Given the description of an element on the screen output the (x, y) to click on. 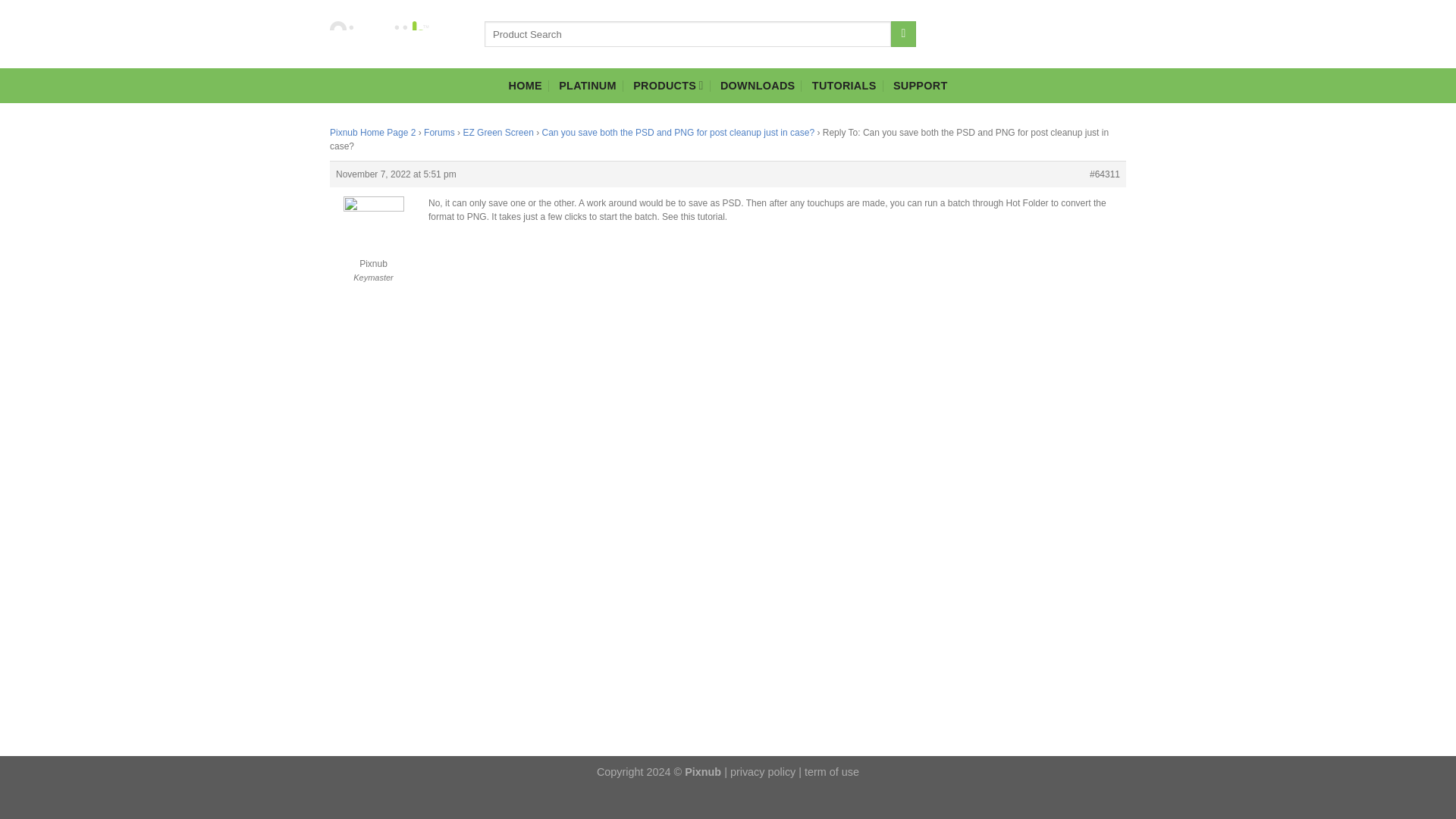
LOGIN (1015, 33)
Pixnub - Platinum Member Area (379, 33)
privacy policy (762, 771)
PLATINUM (587, 85)
HOME (524, 85)
PRODUCTS (668, 85)
Login (1015, 33)
Pixnub Home Page 2 (372, 132)
Search (903, 33)
SUPPORT (920, 85)
